Given the description of an element on the screen output the (x, y) to click on. 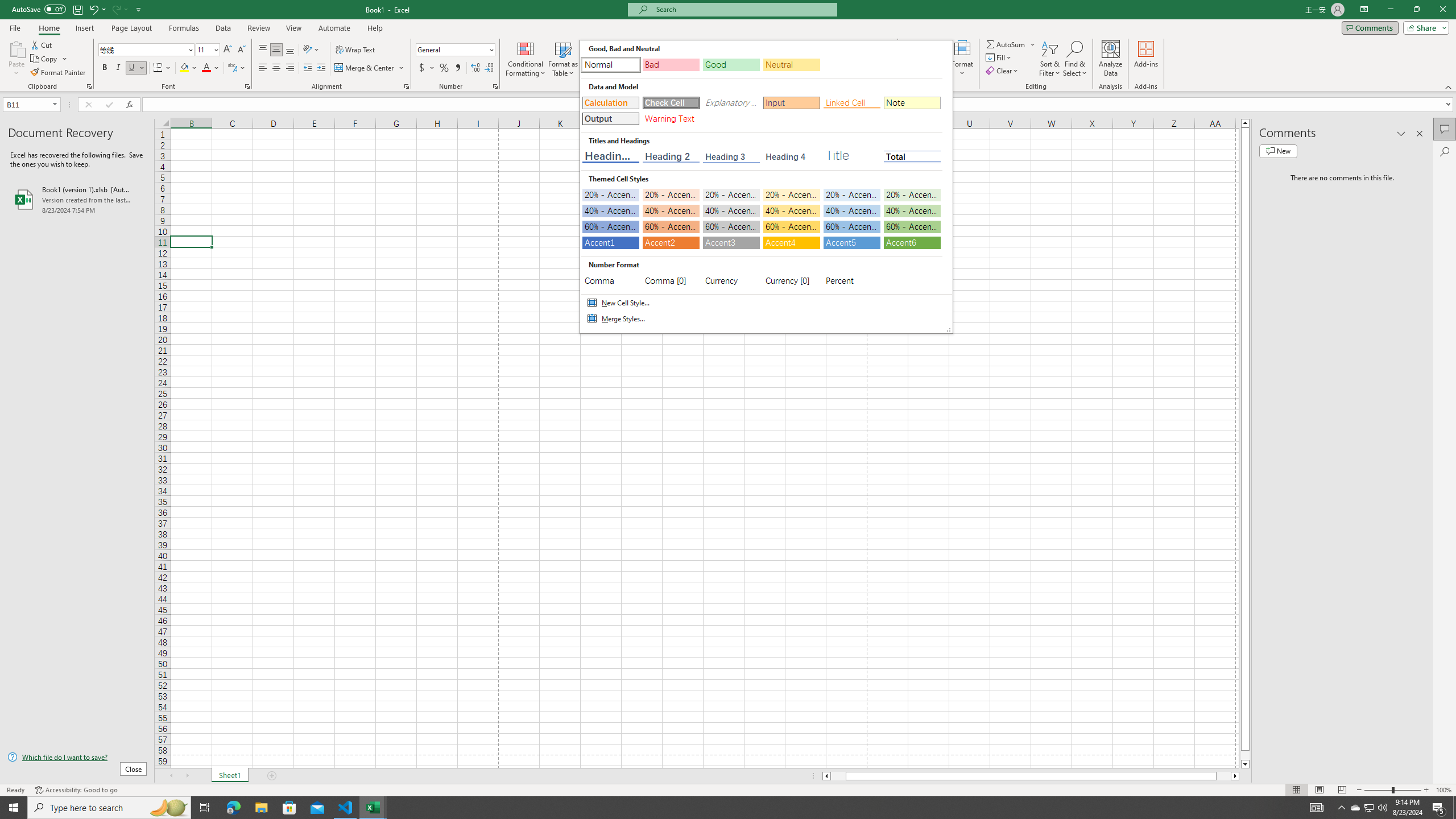
Microsoft Store (289, 807)
Middle Align (276, 49)
Find & Select (1075, 58)
Show Phonetic Field (236, 67)
Notification Chevron (1341, 807)
Sum (1006, 44)
Bottom Align (290, 49)
